Given the description of an element on the screen output the (x, y) to click on. 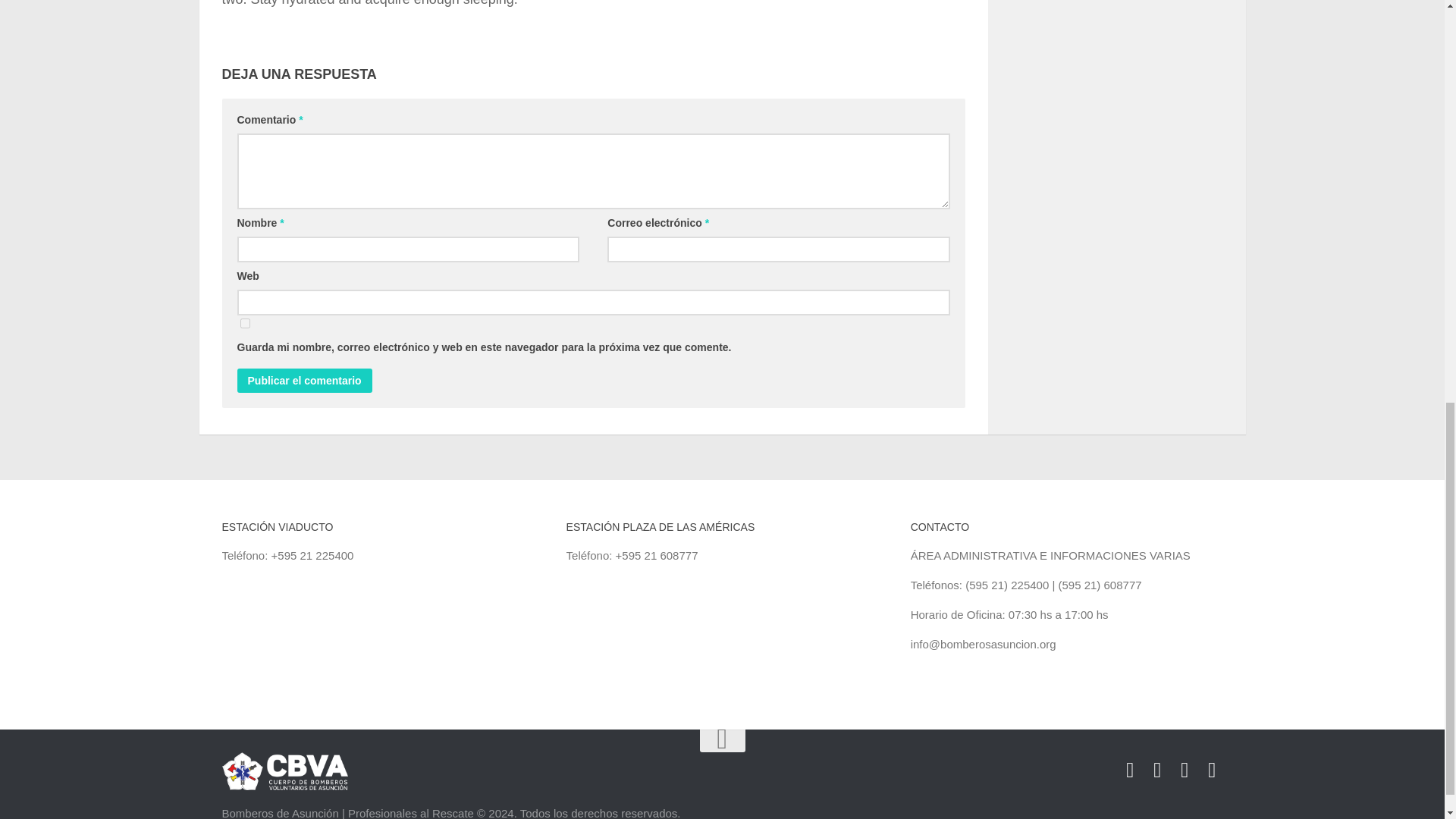
Publicar el comentario (303, 380)
yes (244, 323)
